Given the description of an element on the screen output the (x, y) to click on. 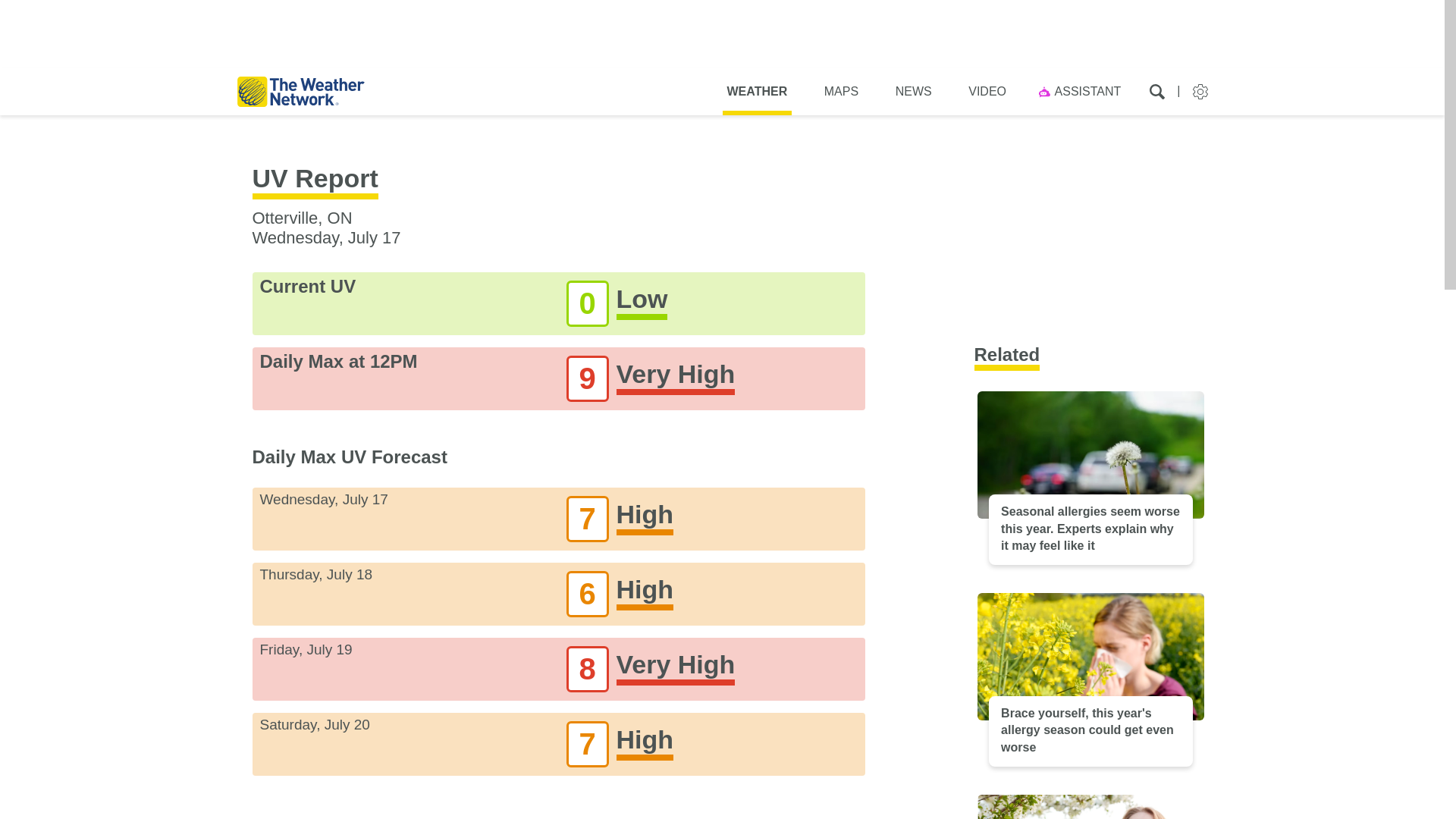
ASSISTANT (1082, 91)
NEWS (913, 91)
VIDEO (986, 91)
WEATHER (757, 91)
MAPS (841, 91)
